Given the description of an element on the screen output the (x, y) to click on. 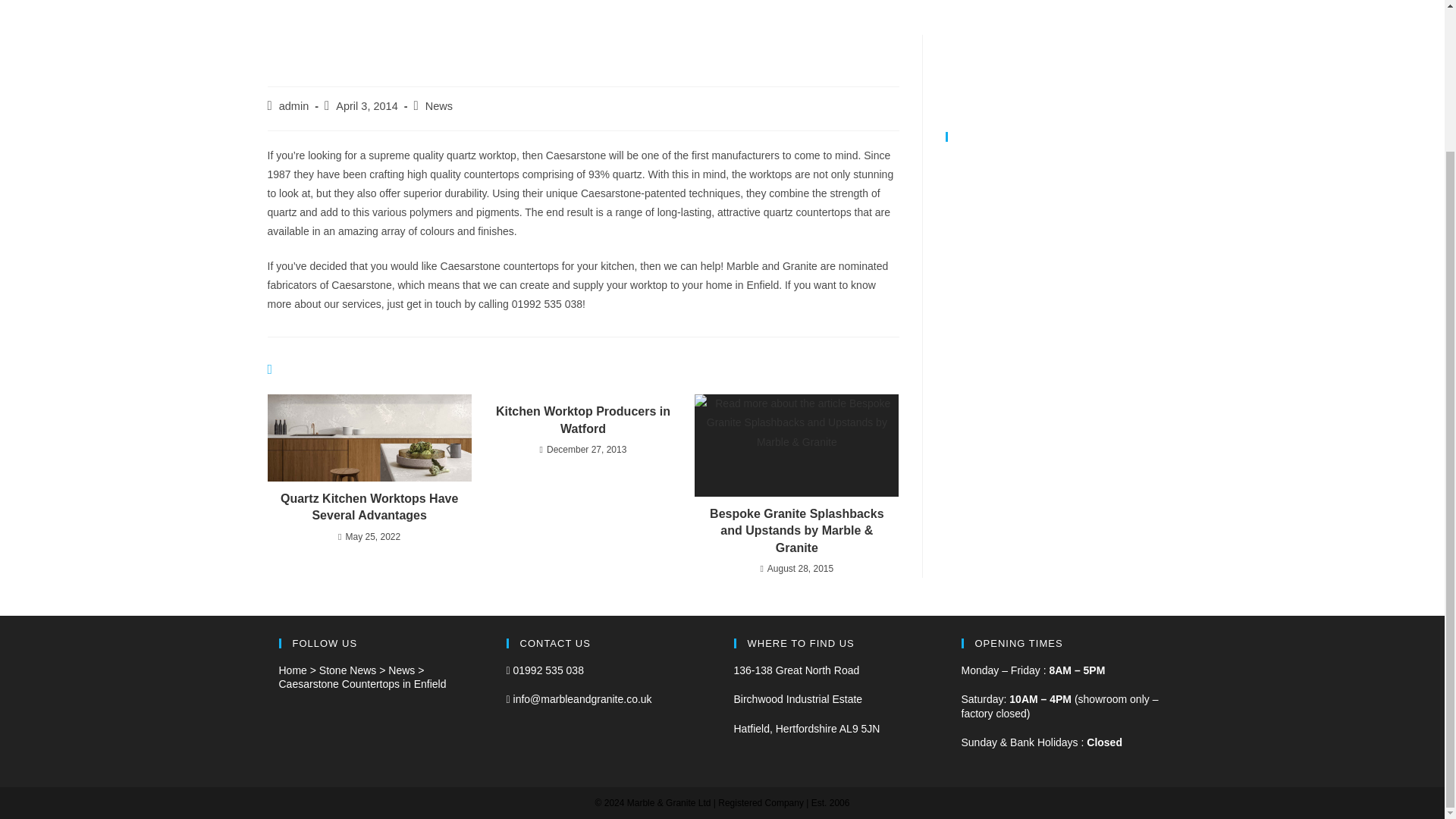
Go to the News category archives. (401, 670)
Go to Stone News. (346, 670)
Go to . (293, 670)
Posts by admin (293, 105)
